Given the description of an element on the screen output the (x, y) to click on. 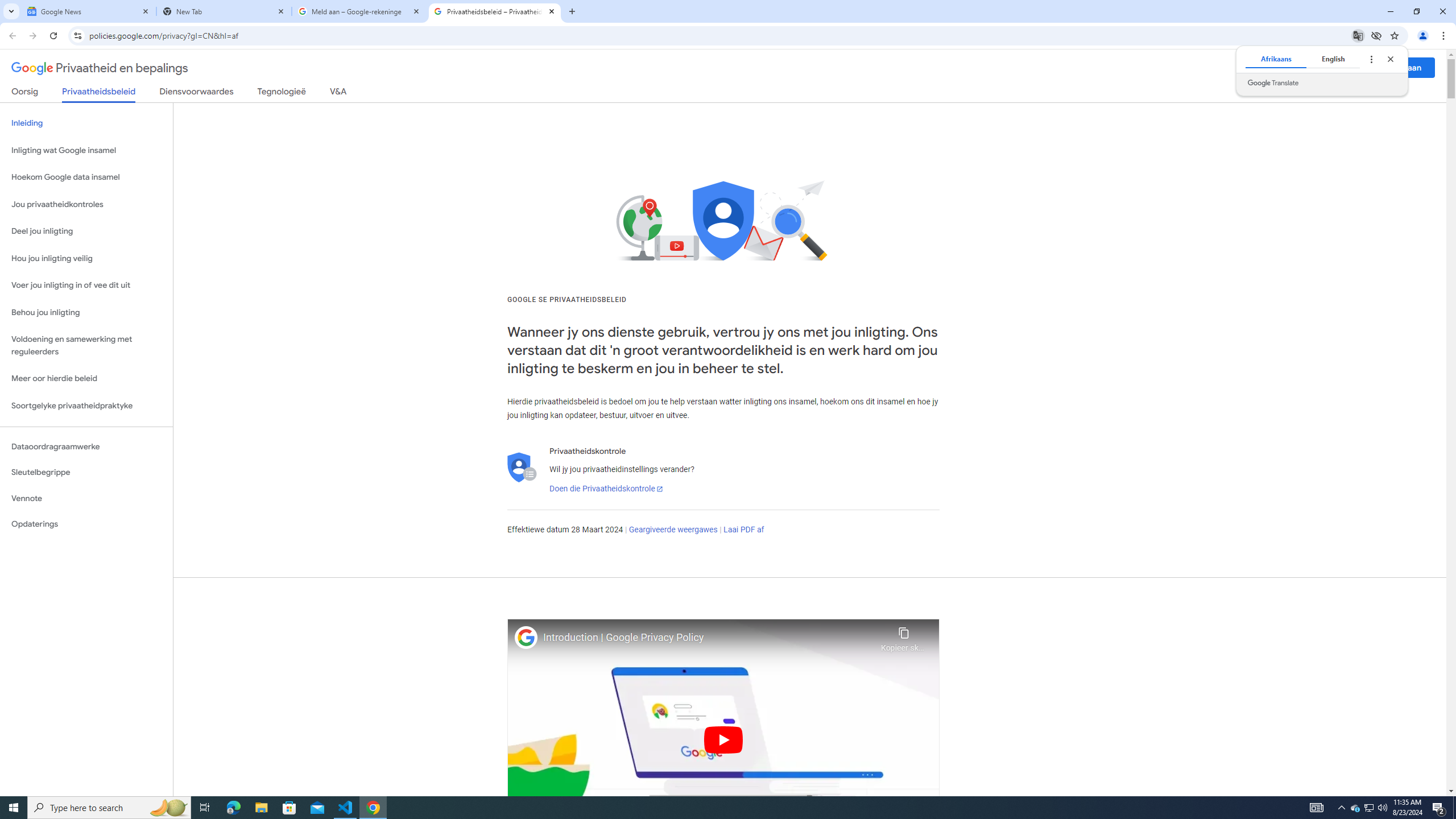
Privaatheidsbeleid (98, 94)
Privaatheid en bepalings (99, 68)
Voer jou inligting in of vee dit uit (86, 284)
New Tab (224, 11)
Inligting wat Google insamel (86, 150)
Vennote (86, 497)
Behou jou inligting (86, 312)
V&A (337, 93)
Deel jou inligting (86, 230)
Inleiding (86, 122)
